Given the description of an element on the screen output the (x, y) to click on. 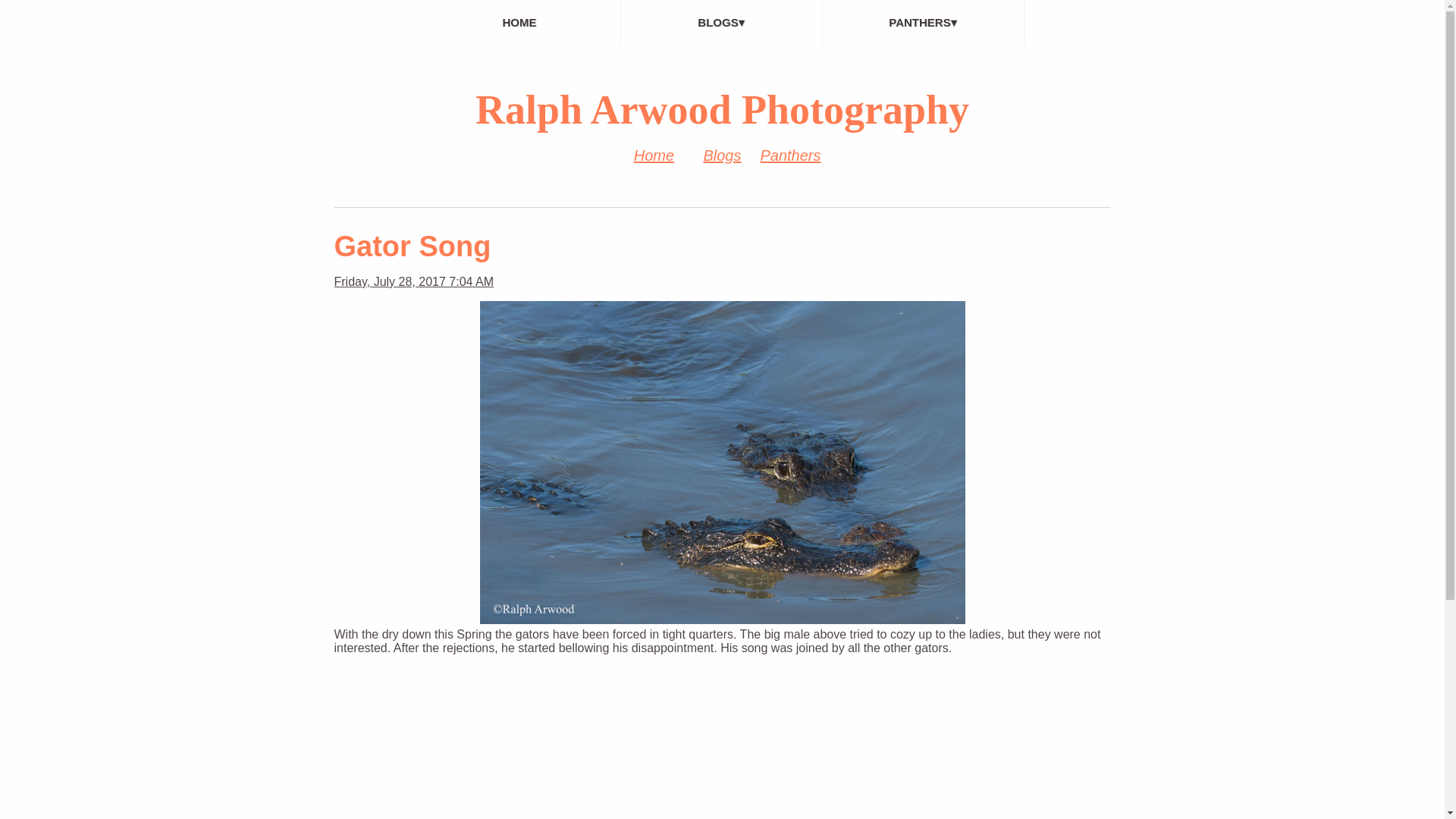
Home (653, 155)
HOME (519, 22)
Panthers (790, 155)
Blogs (721, 155)
